Given the description of an element on the screen output the (x, y) to click on. 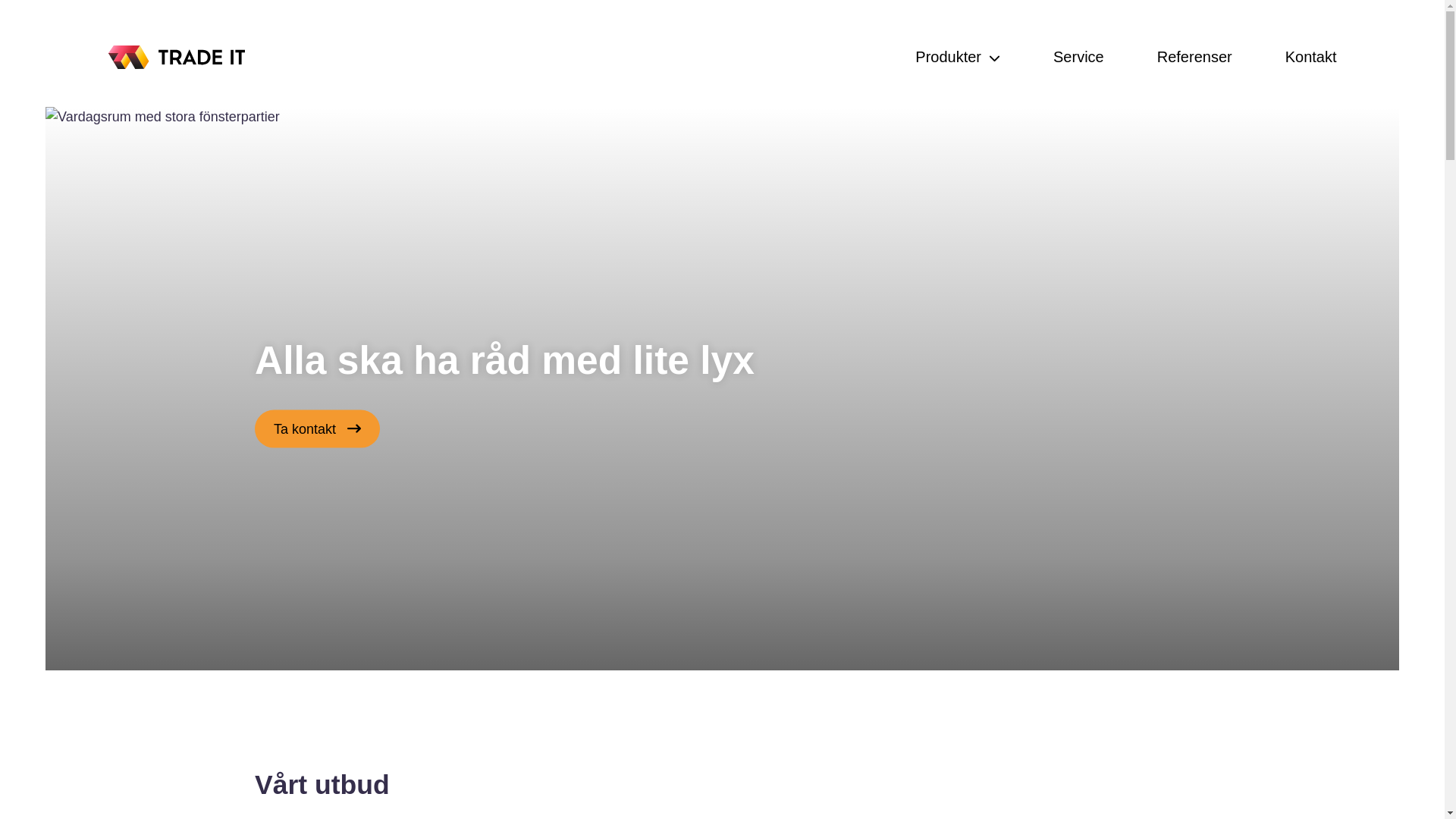
Referenser Element type: text (1194, 56)
Service Element type: text (1078, 56)
Produkter Element type: text (957, 56)
Ta kontakt Element type: text (316, 429)
Kontakt Element type: text (1310, 56)
